Given the description of an element on the screen output the (x, y) to click on. 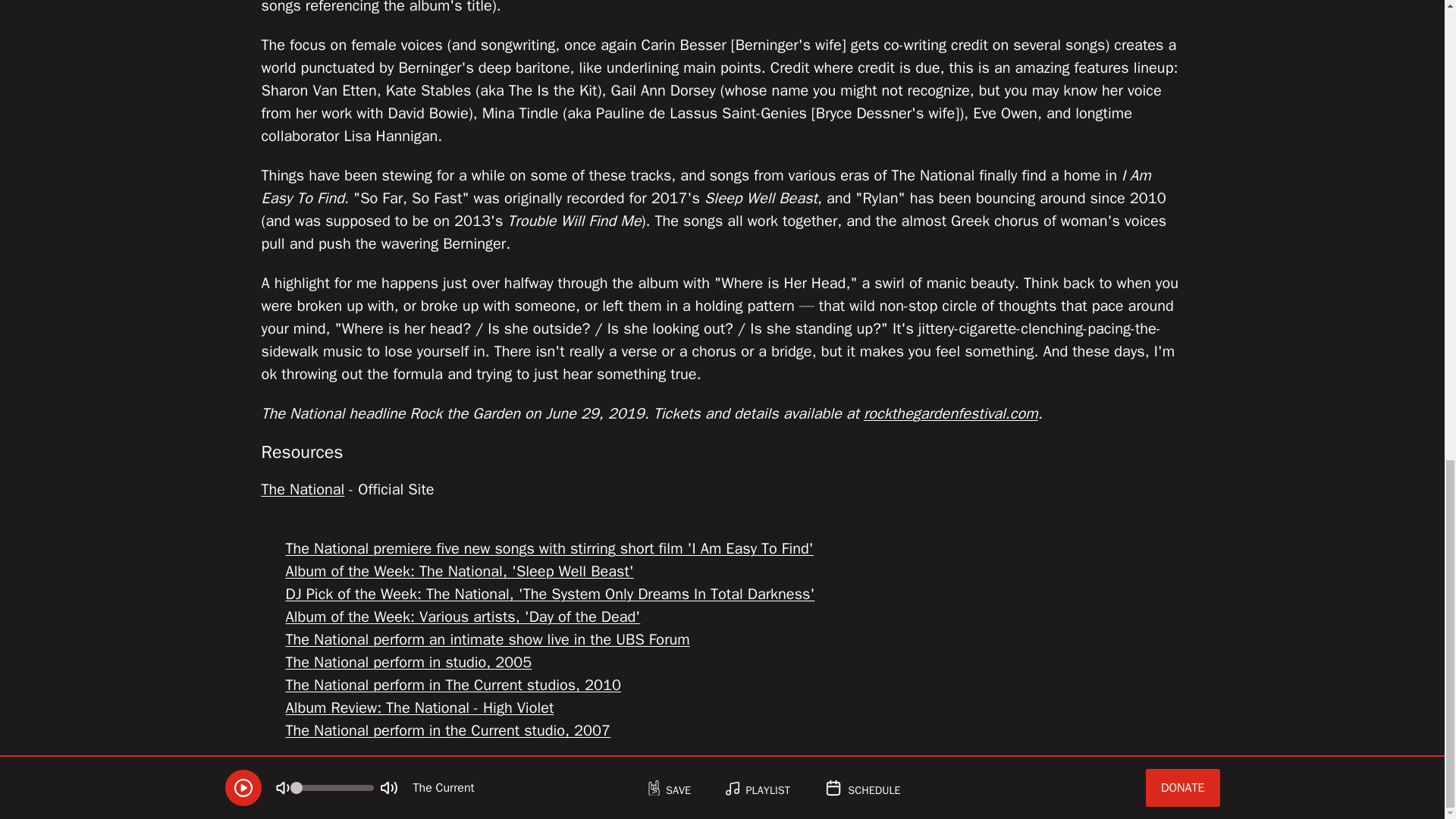
Album of the Week: Various artists, 'Day of the Dead' (462, 616)
The National perform in The Current studios, 2010 (453, 684)
The National perform in studio, 2005 (408, 661)
Album of the Week: The National, 'Sleep Well Beast' (459, 570)
The National perform an intimate show live in the UBS Forum (486, 639)
Album Review: The National - High Violet (419, 707)
The National perform in the Current studio, 2007 (447, 730)
The National (301, 488)
rockthegardenfestival.com (950, 413)
